Given the description of an element on the screen output the (x, y) to click on. 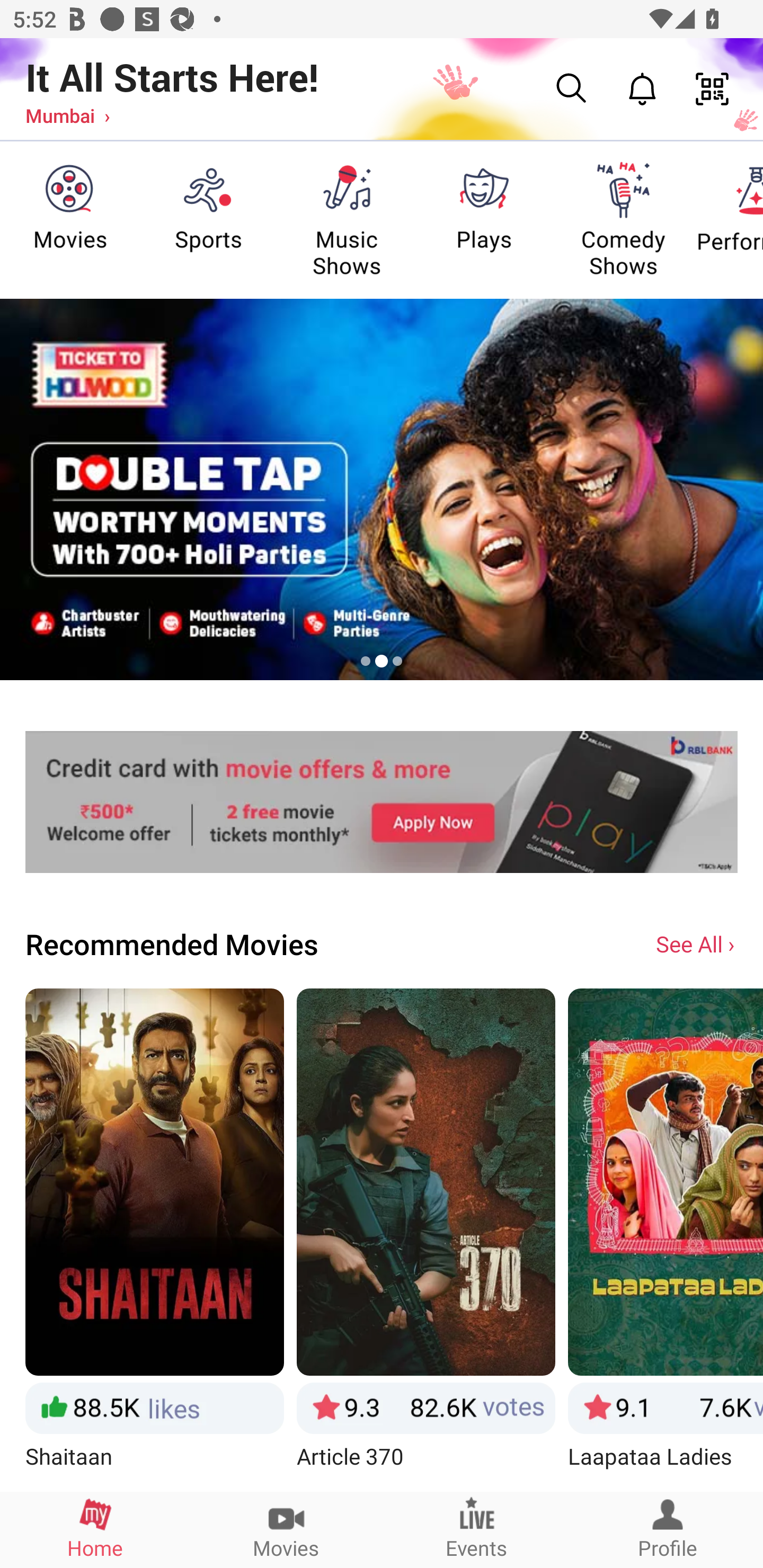
Mumbai  › (67, 114)
See All › (696, 943)
Shaitaan (154, 1239)
Article 370 (425, 1239)
Laapataa Ladies (665, 1239)
Home (95, 1529)
Movies (285, 1529)
Events (476, 1529)
Profile (667, 1529)
